Given the description of an element on the screen output the (x, y) to click on. 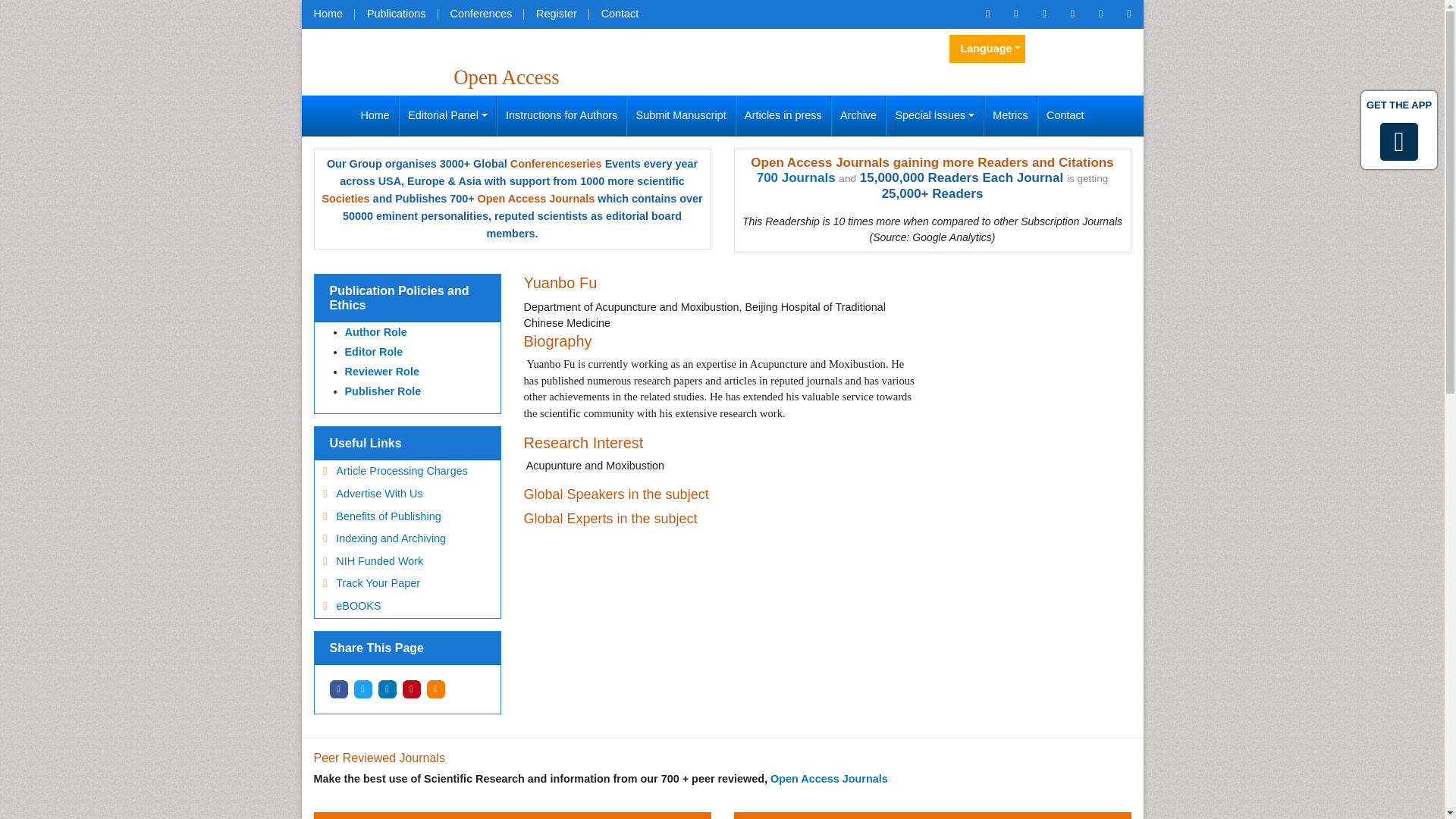
Home (328, 14)
Publications (396, 14)
Conferences (481, 14)
Instructions for Authors (561, 115)
Register (556, 14)
OMICS International Journals (396, 14)
Register (556, 14)
Contact (619, 14)
Language (987, 49)
Contact (619, 14)
Editorial Panel (447, 115)
Home (328, 14)
Home (374, 115)
Articles in press (782, 115)
OMICS Group Conferences (481, 14)
